Given the description of an element on the screen output the (x, y) to click on. 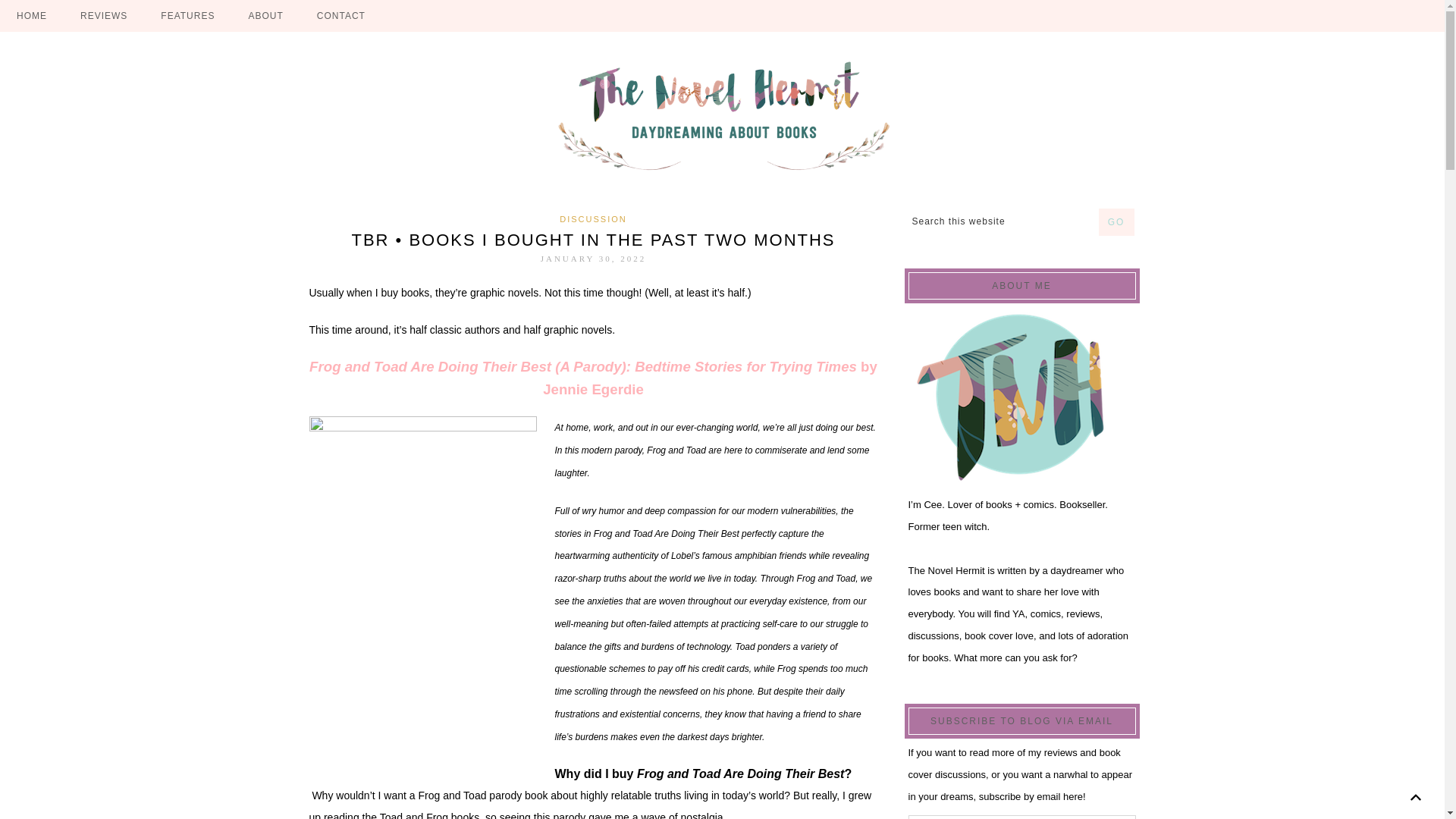
GO (1115, 221)
DISCUSSION (592, 218)
ABOUT (264, 15)
FEATURES (187, 15)
CONTACT (340, 15)
REVIEWS (103, 15)
HOME (31, 15)
GO (1115, 221)
THE NOVEL HERMIT (722, 117)
